Given the description of an element on the screen output the (x, y) to click on. 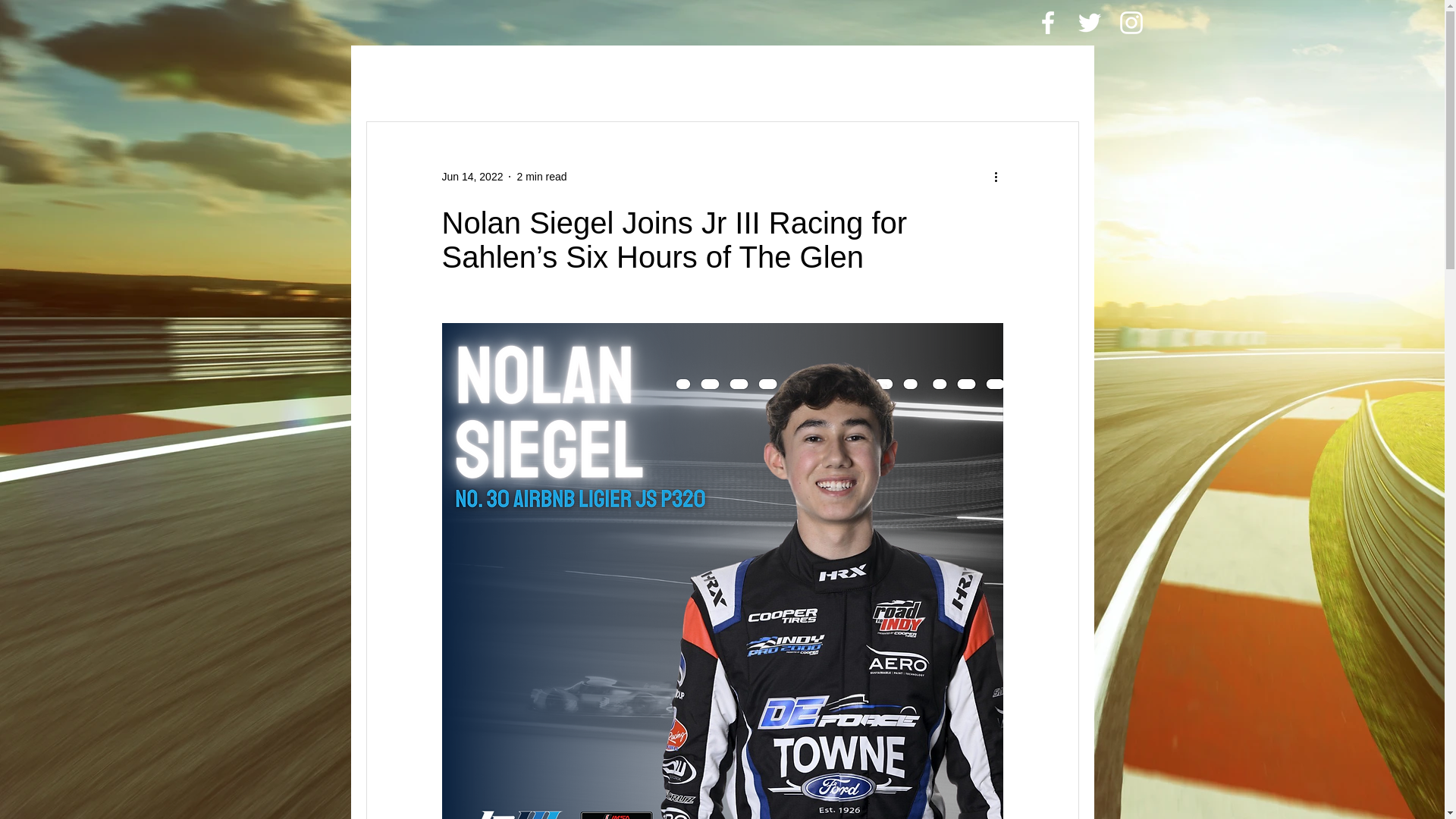
All Posts (394, 75)
2 min read (541, 175)
Jun 14, 2022 (471, 175)
